Given the description of an element on the screen output the (x, y) to click on. 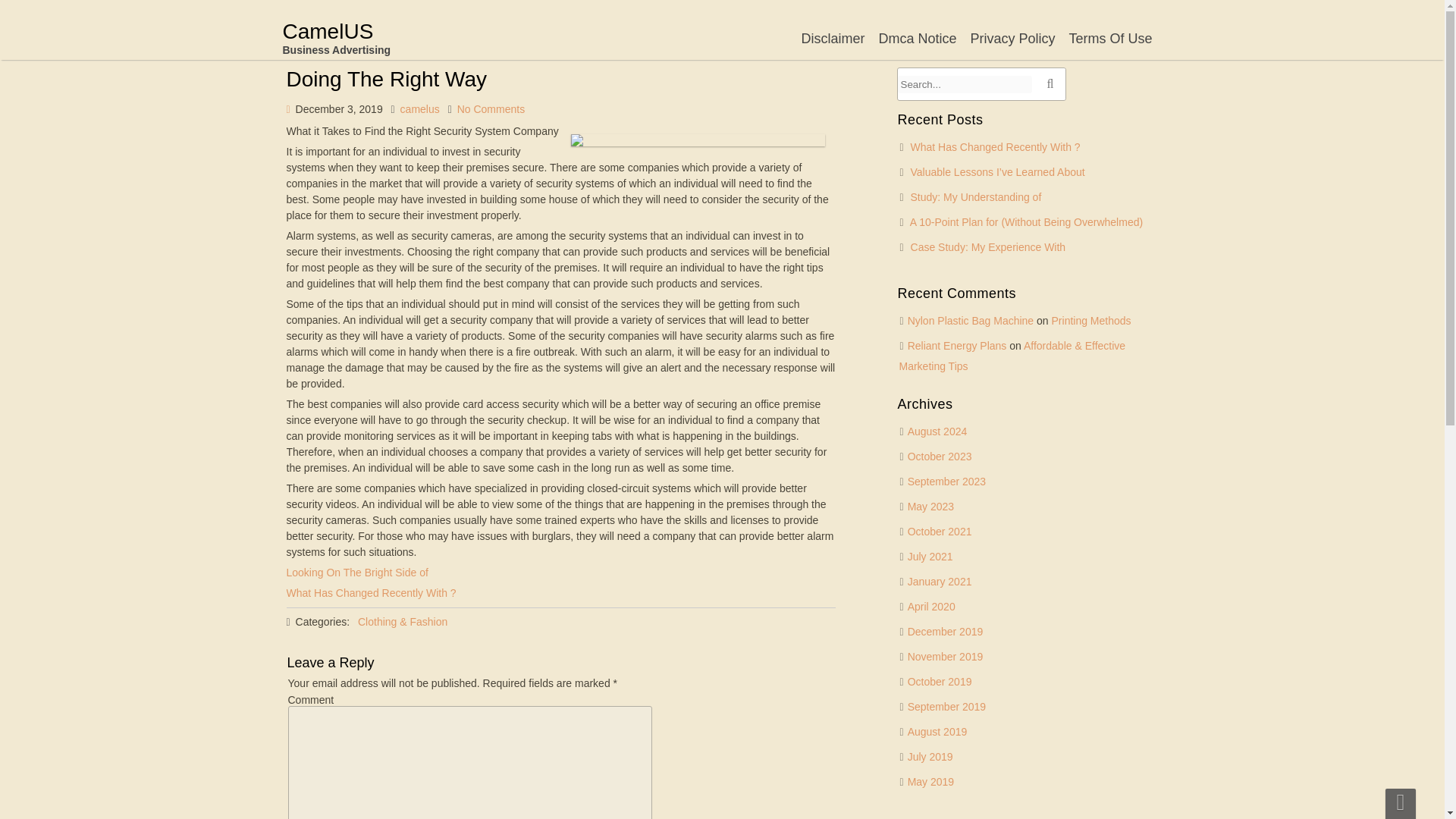
Privacy Policy (1012, 38)
Nylon Plastic Bag Machine (970, 320)
Case Study: My Experience With (988, 246)
September 2019 (947, 706)
Terms Of Use (1110, 38)
What Has Changed Recently With ? (371, 592)
August 2019 (937, 731)
November 2019 (945, 656)
No Comments (490, 109)
October 2021 (939, 531)
